Given the description of an element on the screen output the (x, y) to click on. 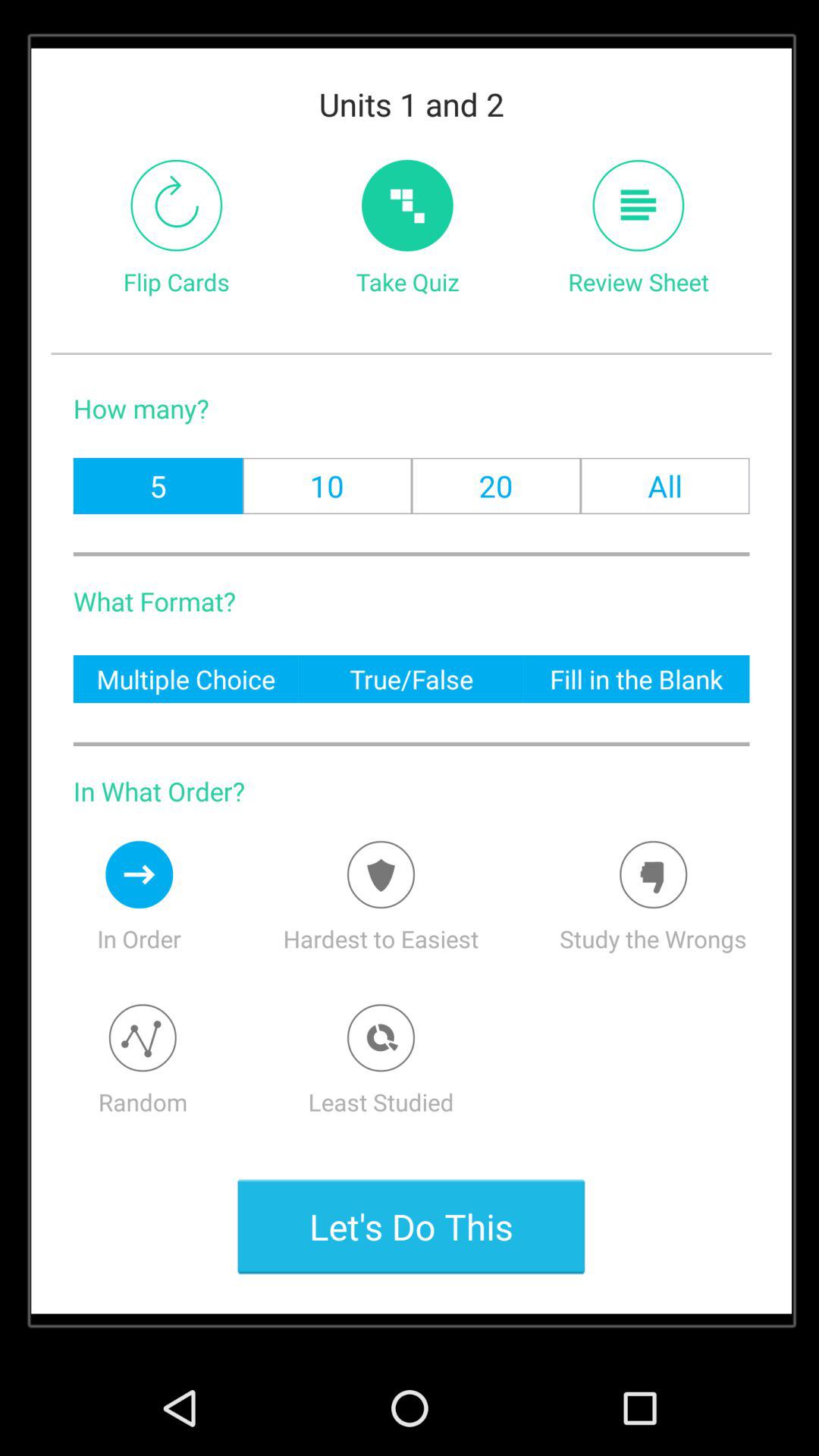
randomize the questions (142, 1037)
